Given the description of an element on the screen output the (x, y) to click on. 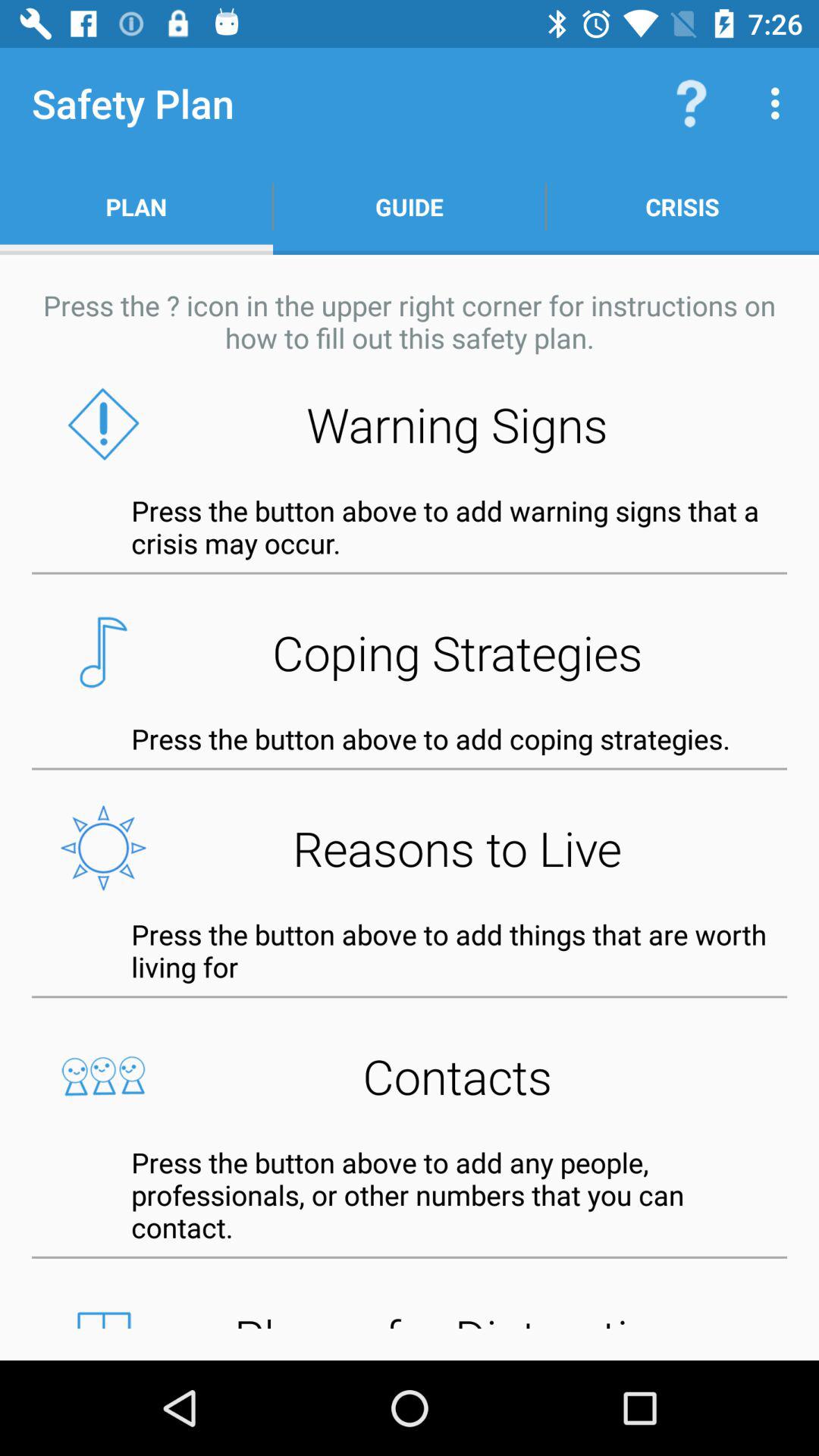
flip to places for distraction button (409, 1314)
